Given the description of an element on the screen output the (x, y) to click on. 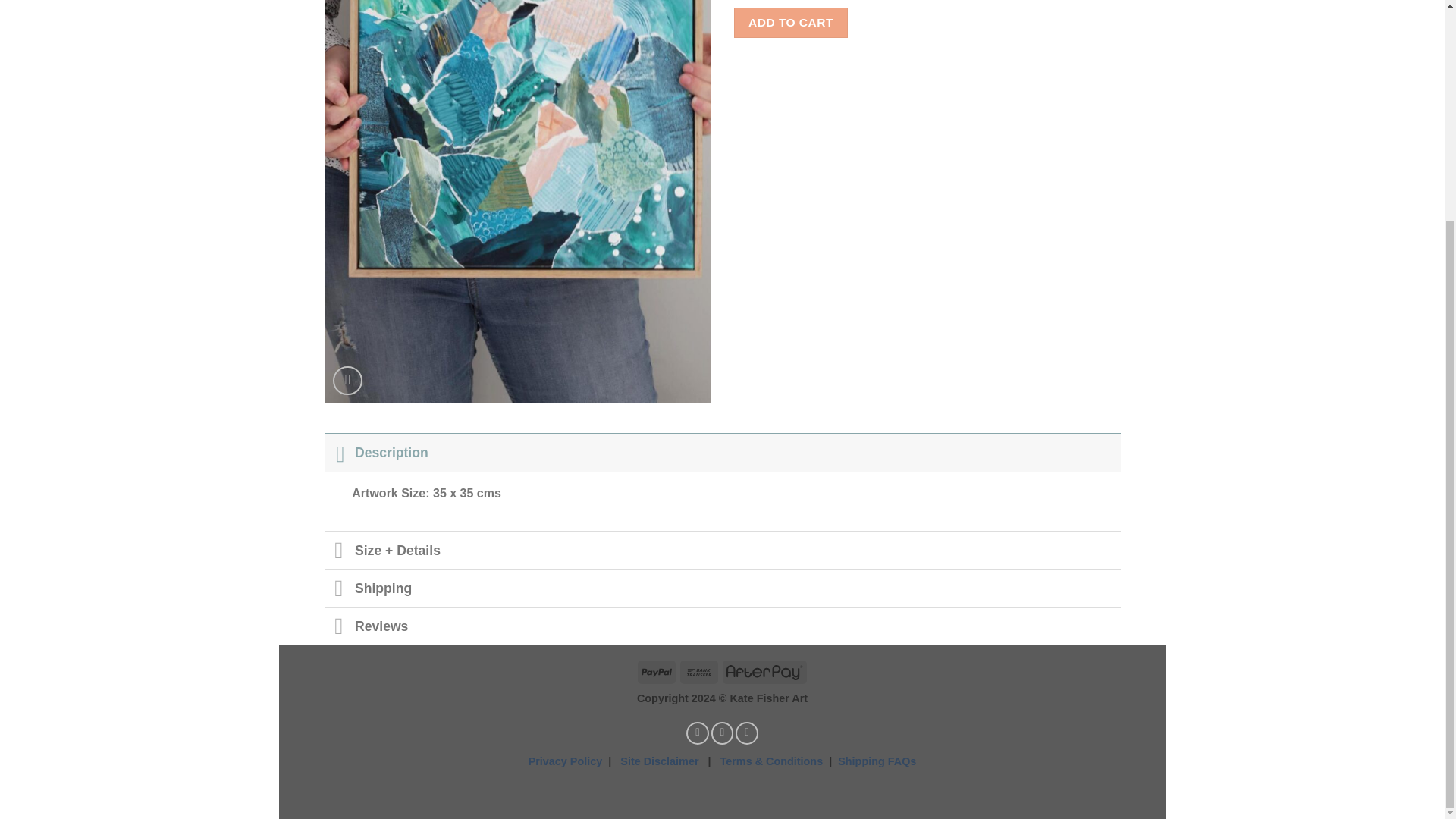
Follow on Pinterest (746, 732)
ADD TO CART (790, 21)
Follow on Instagram (722, 732)
Zoom (347, 380)
Follow on Facebook (697, 732)
